Given the description of an element on the screen output the (x, y) to click on. 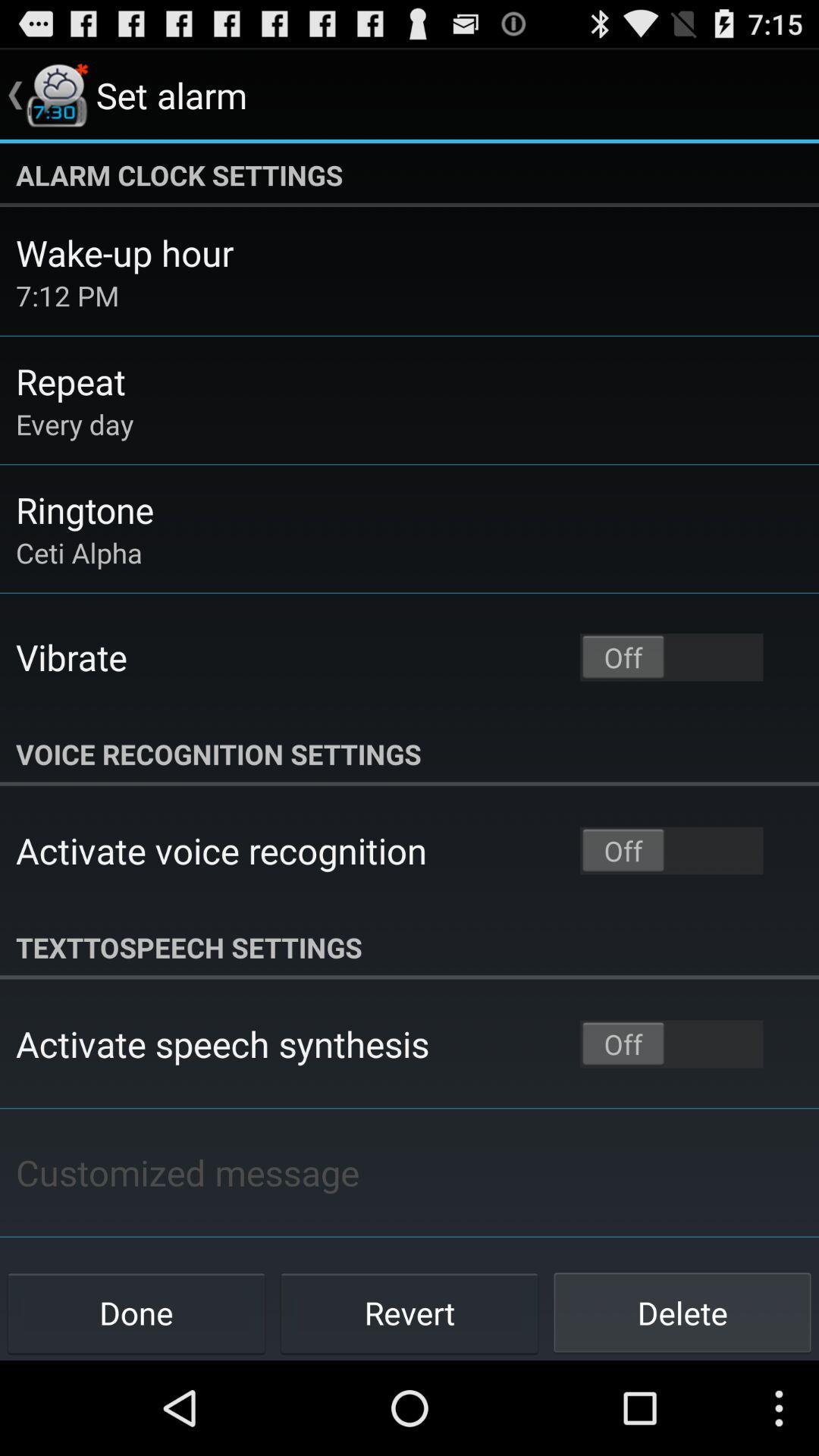
scroll until the activate speech synthesis icon (222, 1043)
